Given the description of an element on the screen output the (x, y) to click on. 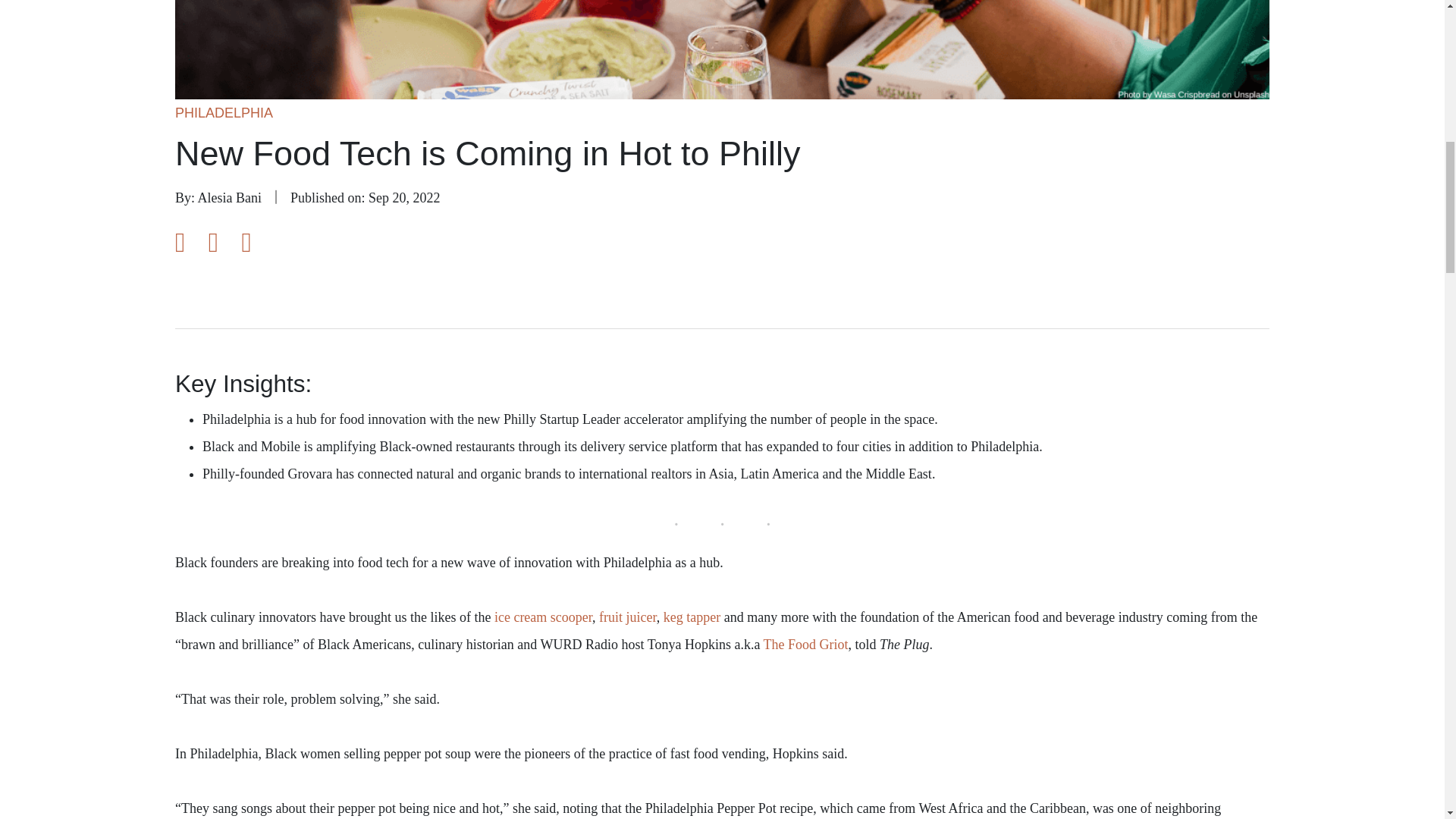
fruit juicer (627, 616)
keg tapper (691, 616)
ice cream scooper (543, 616)
The Food Griot (805, 644)
PHILADELPHIA (223, 112)
